Given the description of an element on the screen output the (x, y) to click on. 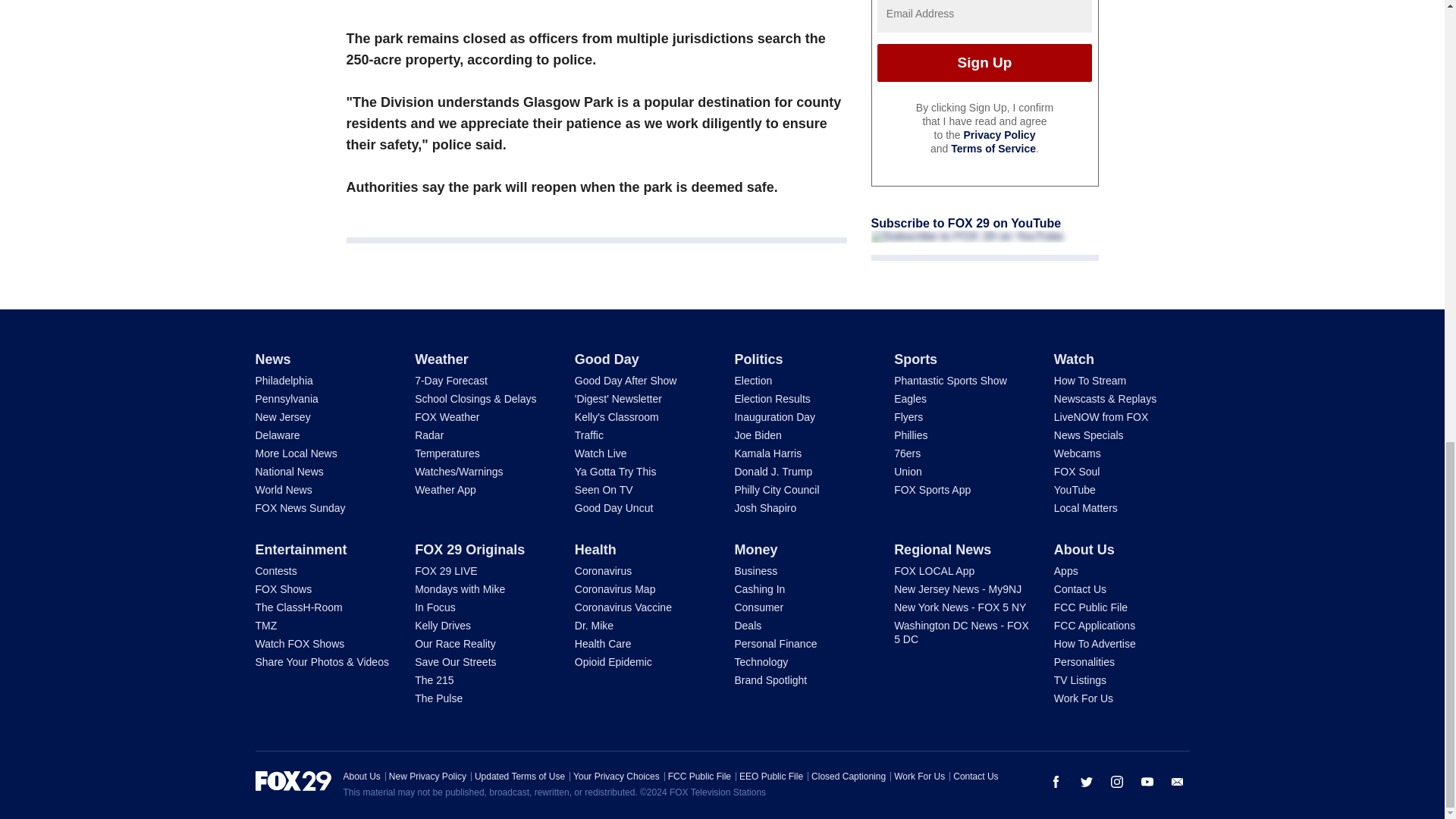
Sign Up (984, 62)
